Given the description of an element on the screen output the (x, y) to click on. 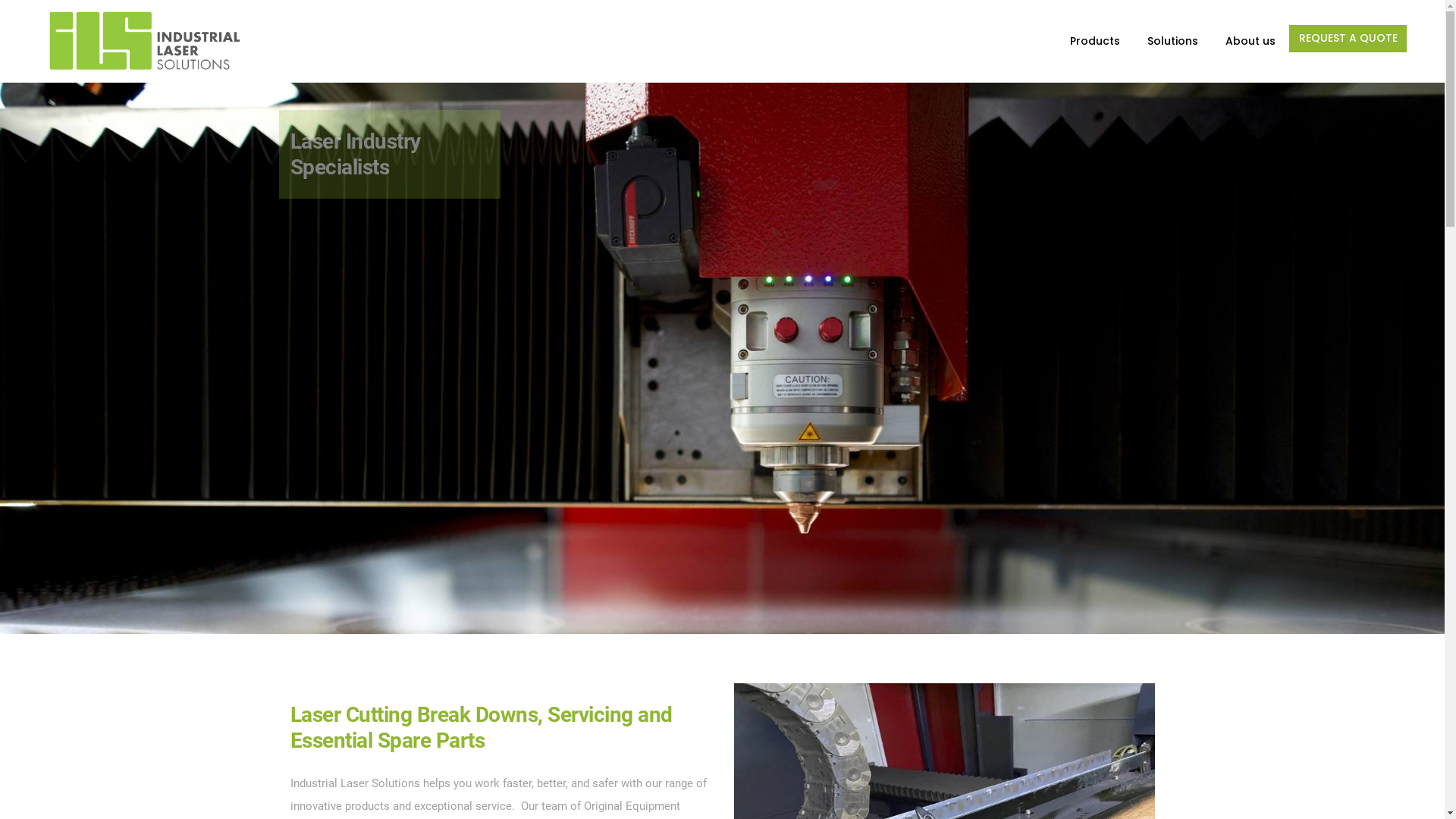
About us Element type: text (1250, 40)
Products Element type: text (1095, 40)
Solutions Element type: text (1172, 40)
REQUEST A QUOTE Element type: text (1347, 38)
